Given the description of an element on the screen output the (x, y) to click on. 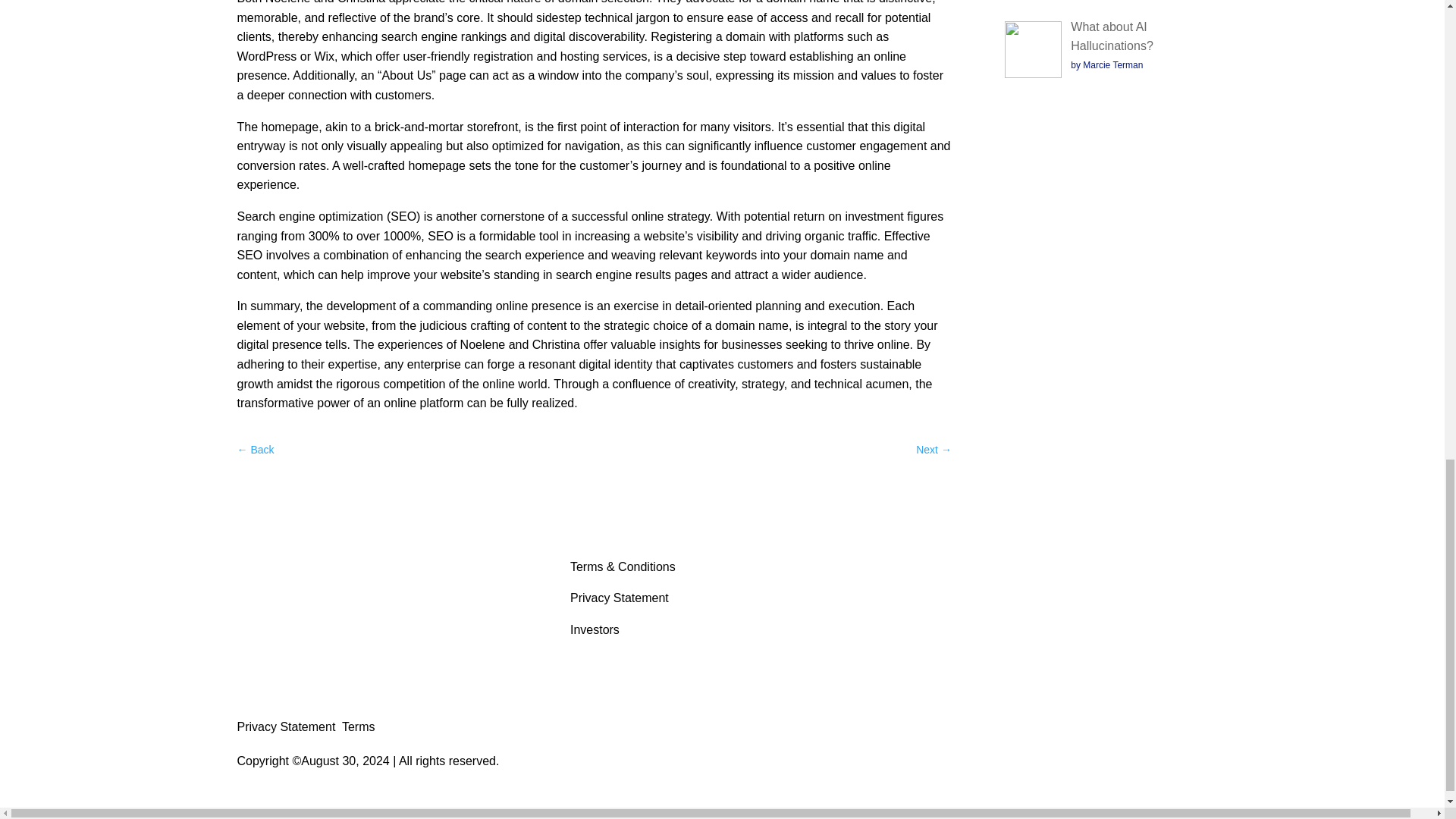
Investors (595, 629)
Follow on LinkedIn (1194, 569)
Follow on X (1164, 569)
What about AI Hallucinations? (1111, 36)
Privacy Statement (619, 597)
Follow on Facebook (1134, 569)
